Given the description of an element on the screen output the (x, y) to click on. 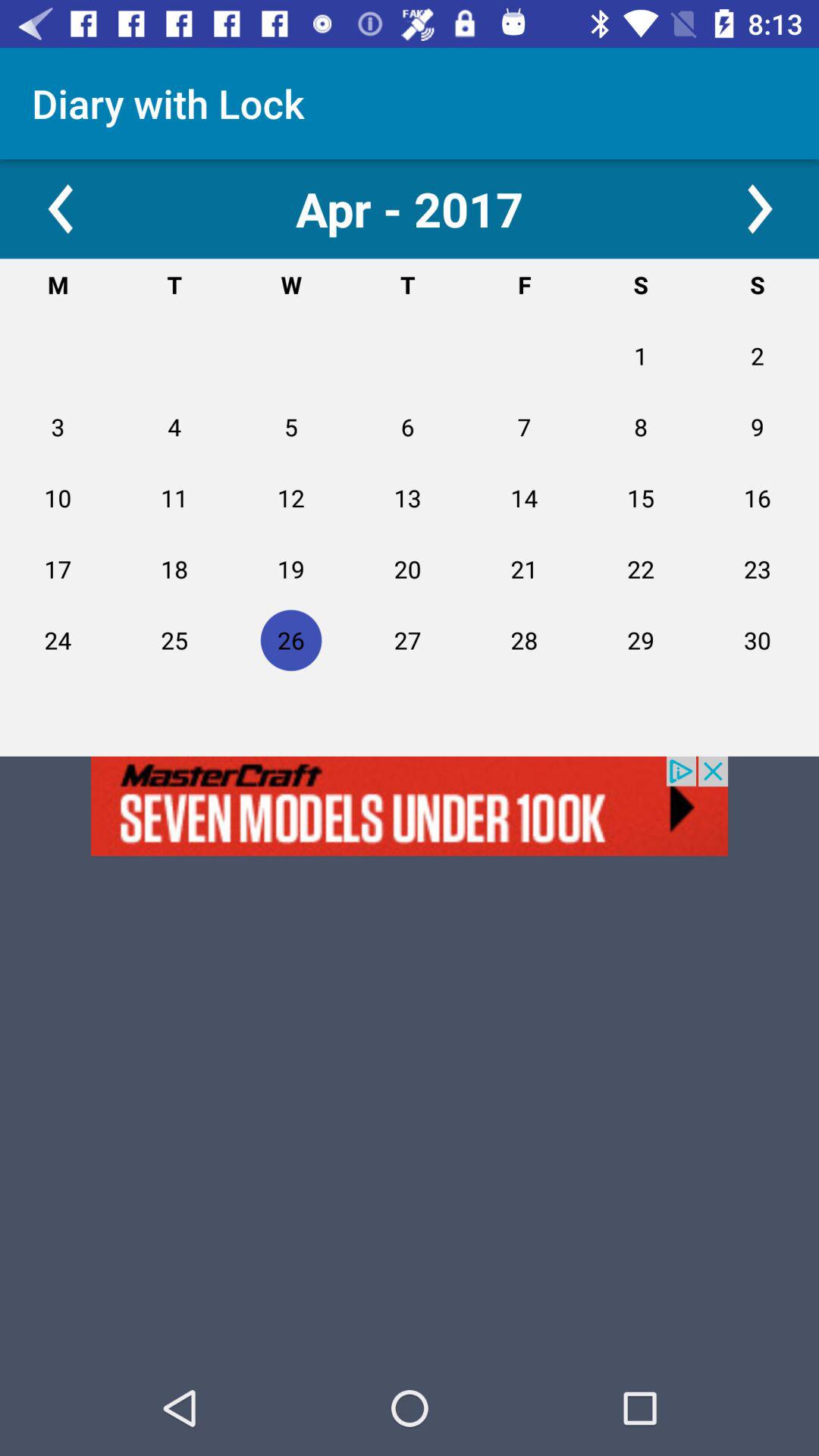
view advertisement (409, 805)
